Given the description of an element on the screen output the (x, y) to click on. 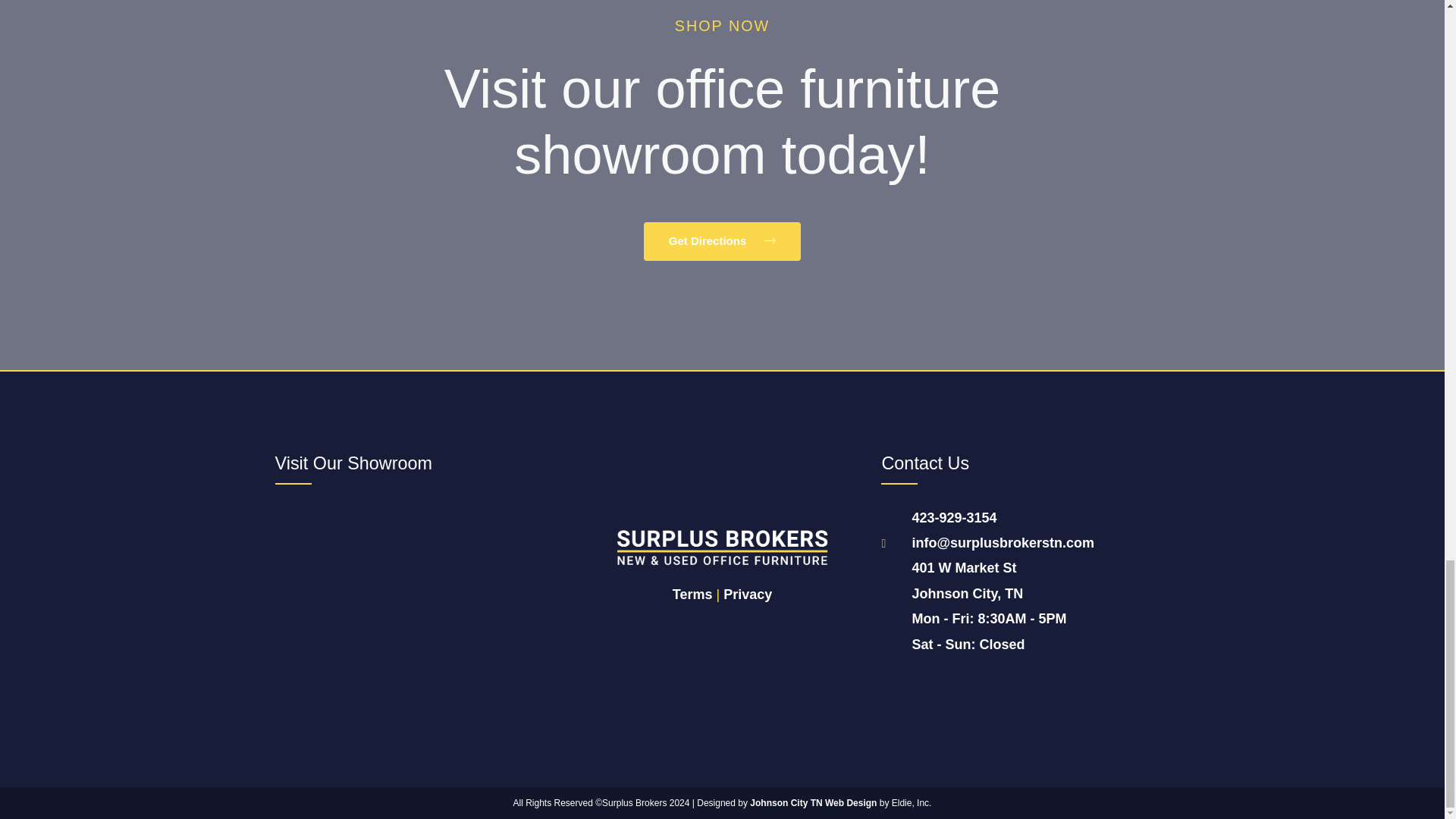
Johnson City TN Web Design (812, 802)
Get Directions (722, 241)
Privacy (1024, 581)
Terms (747, 594)
